Given the description of an element on the screen output the (x, y) to click on. 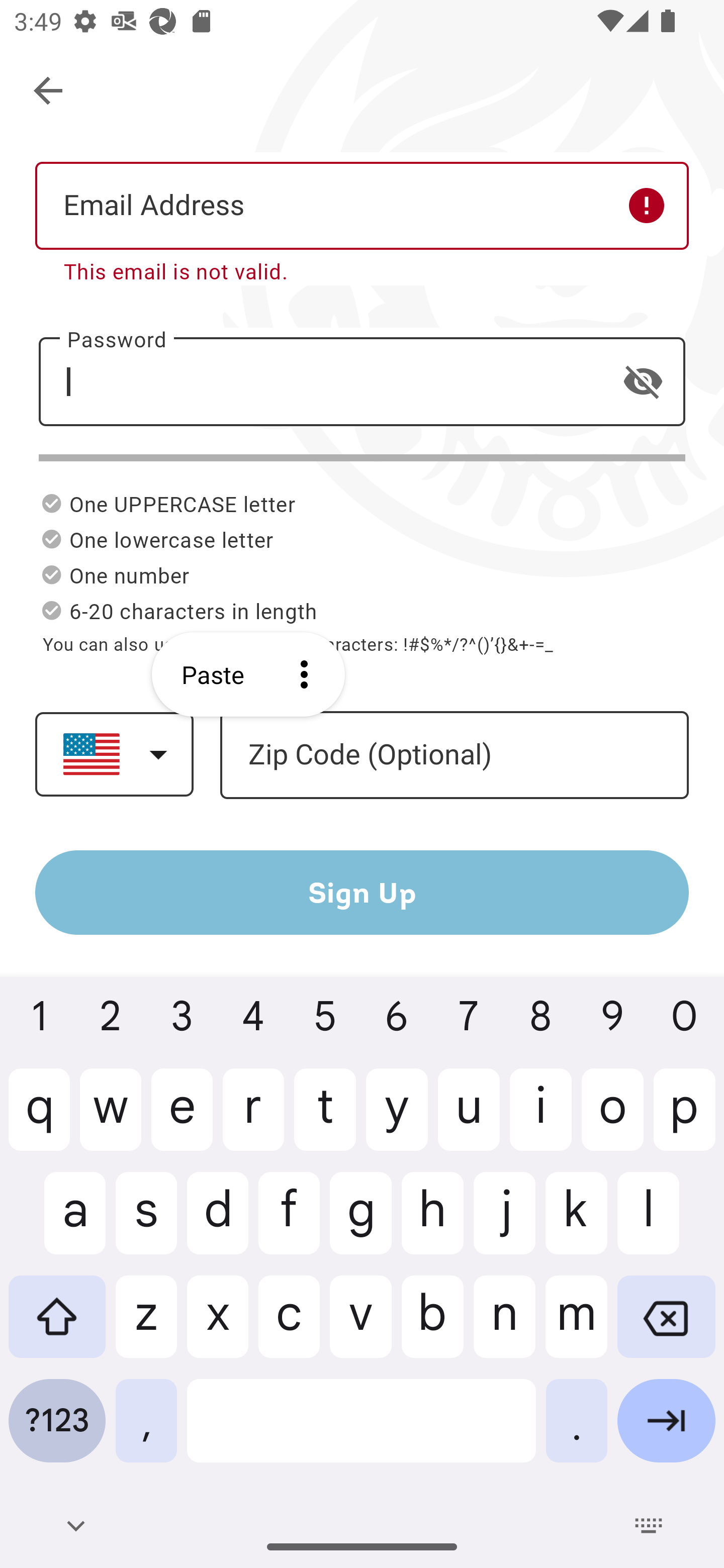
Navigate up (49, 91)
Email Address - Required (361, 205)
- Required (361, 381)
Show password (642, 380)
Zip Code – Optional (454, 755)
Select a country. United States selected. (114, 753)
Sign Up (361, 891)
